Given the description of an element on the screen output the (x, y) to click on. 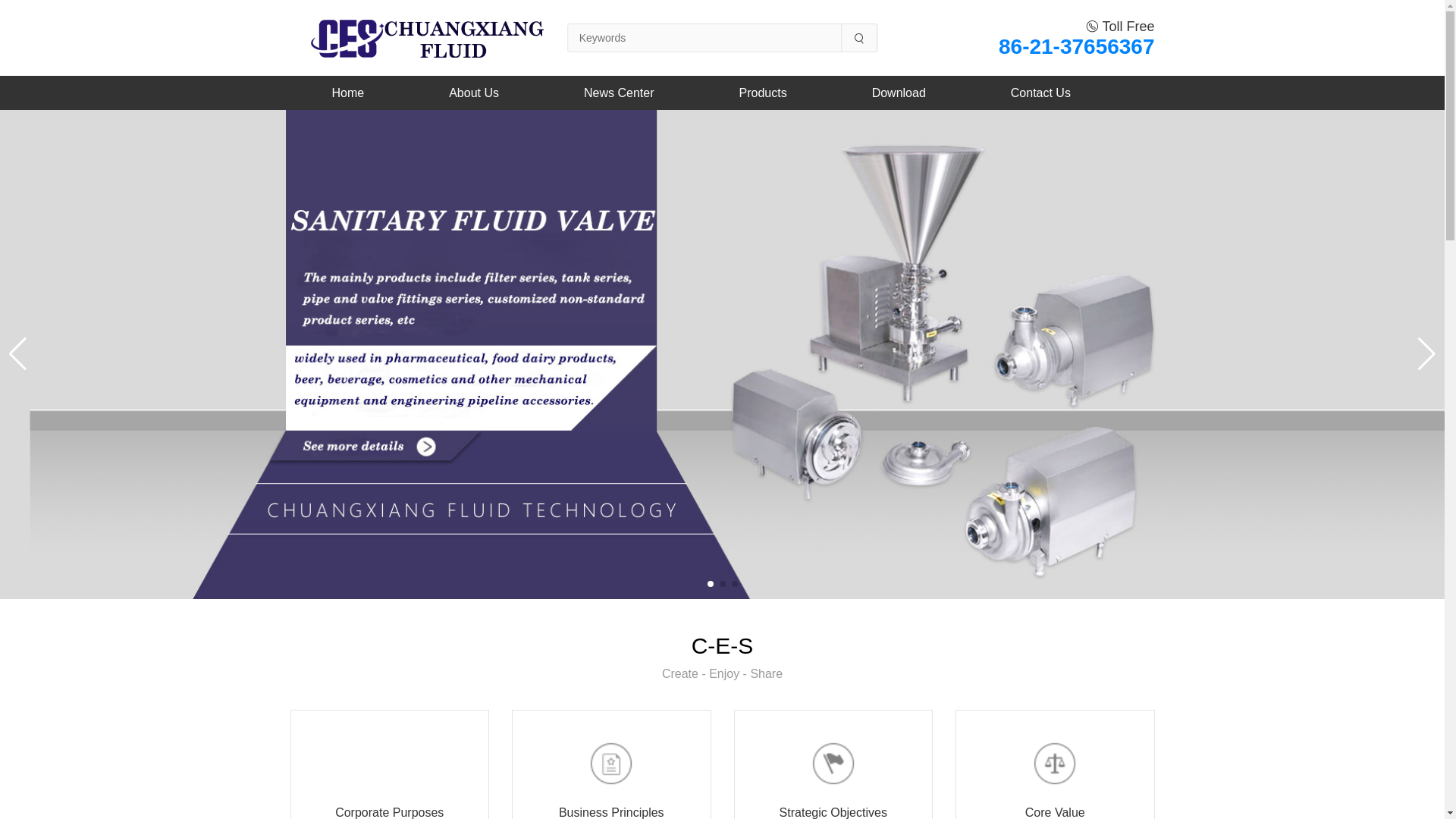
Business Principles (611, 780)
Corporate Purposes (389, 780)
Core Value (1054, 780)
Download (899, 92)
Home (348, 92)
Contact Us (1040, 92)
Strategic Objectives (832, 780)
